Given the description of an element on the screen output the (x, y) to click on. 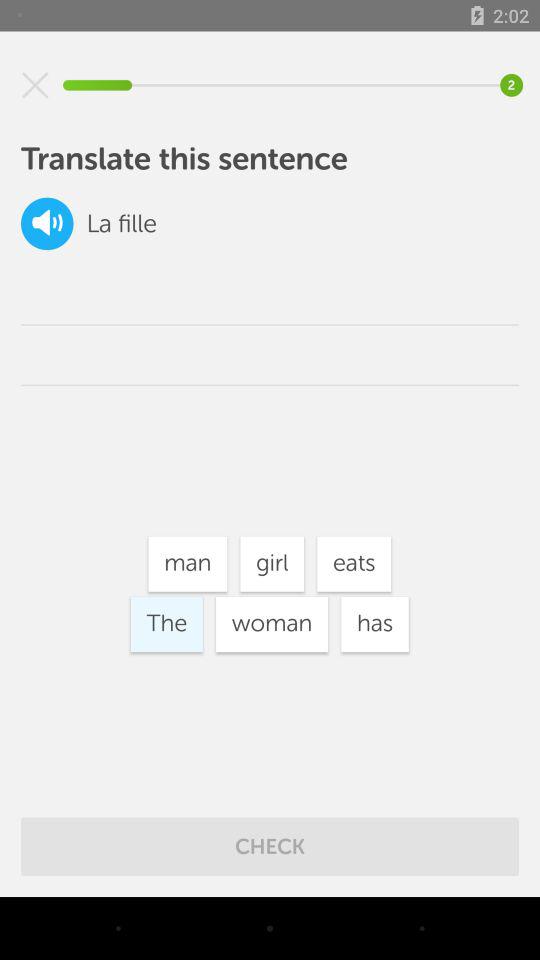
choose the item to the left of   icon (98, 223)
